Given the description of an element on the screen output the (x, y) to click on. 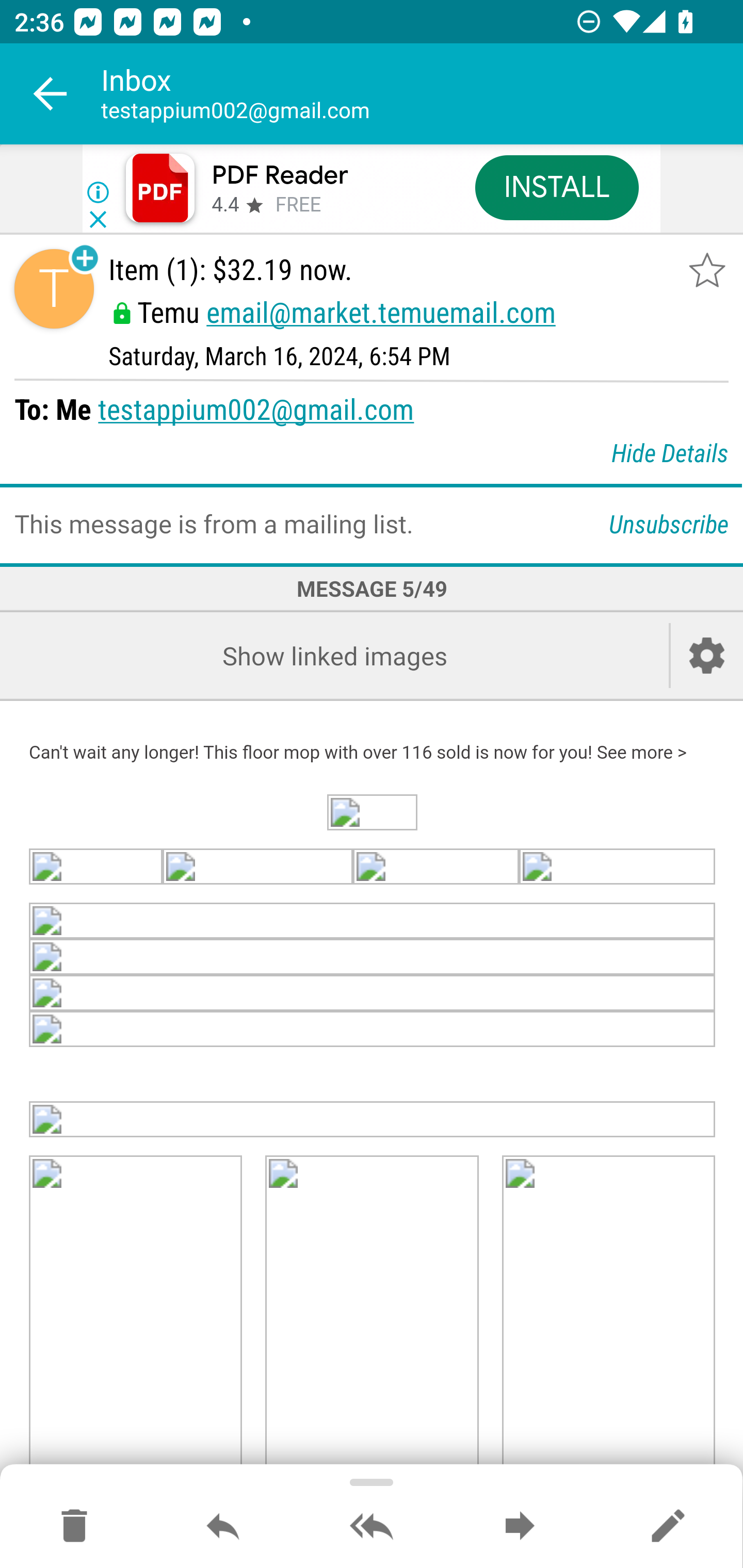
Navigate up (50, 93)
Inbox testappium002@gmail.com (422, 93)
INSTALL (556, 187)
PDF Reader (279, 175)
4.4 (224, 204)
FREE (298, 204)
Sender contact button (53, 289)
Unsubscribe (668, 523)
Show linked images (334, 655)
Account setup (706, 655)
data: (372, 812)
data: (96, 866)
data: (256, 866)
data: (436, 866)
data: (616, 866)
data: (372, 921)
data: (372, 957)
data: (372, 993)
data: (372, 1029)
mbs_landing_goods (372, 1119)
mbs_landing_goods (135, 1313)
mbs_landing_goods (371, 1313)
mbs_landing_goods (608, 1313)
Move to Deleted (74, 1527)
Reply (222, 1527)
Reply all (371, 1527)
Forward (519, 1527)
Reply as new (667, 1527)
